Given the description of an element on the screen output the (x, y) to click on. 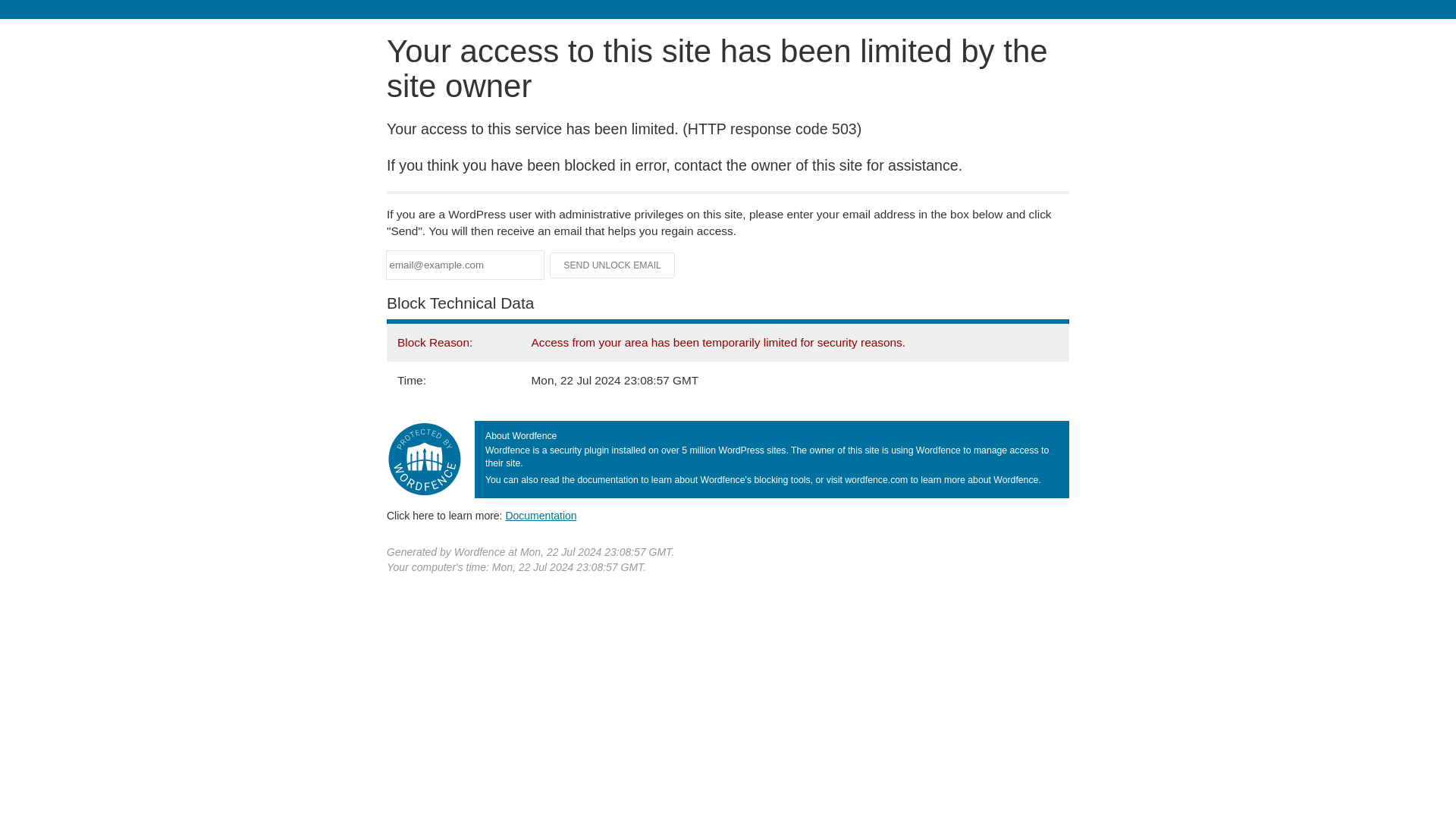
Send Unlock Email (612, 265)
Documentation (540, 515)
Send Unlock Email (612, 265)
